Given the description of an element on the screen output the (x, y) to click on. 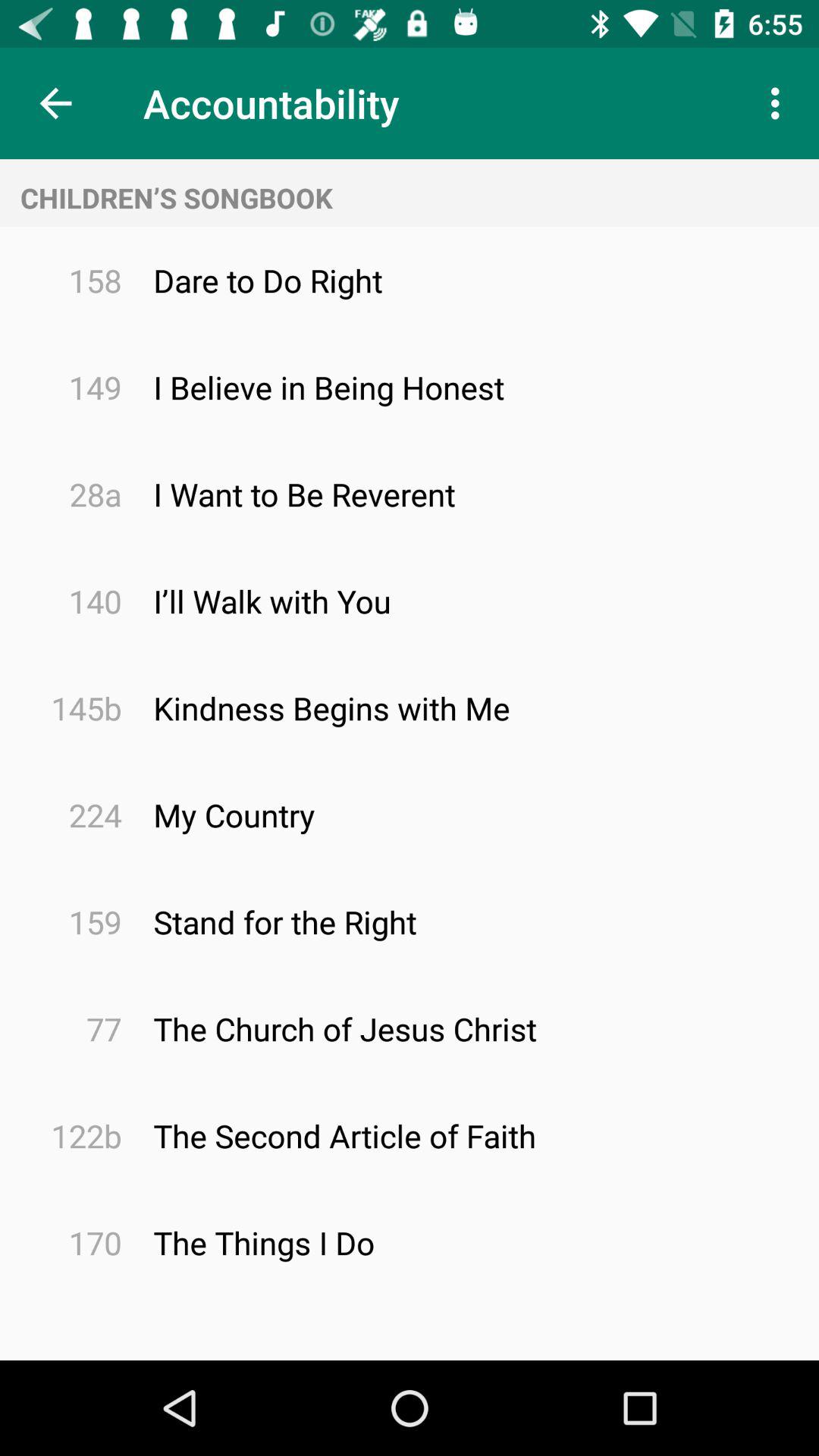
select the icon next to accountability (55, 103)
